Given the description of an element on the screen output the (x, y) to click on. 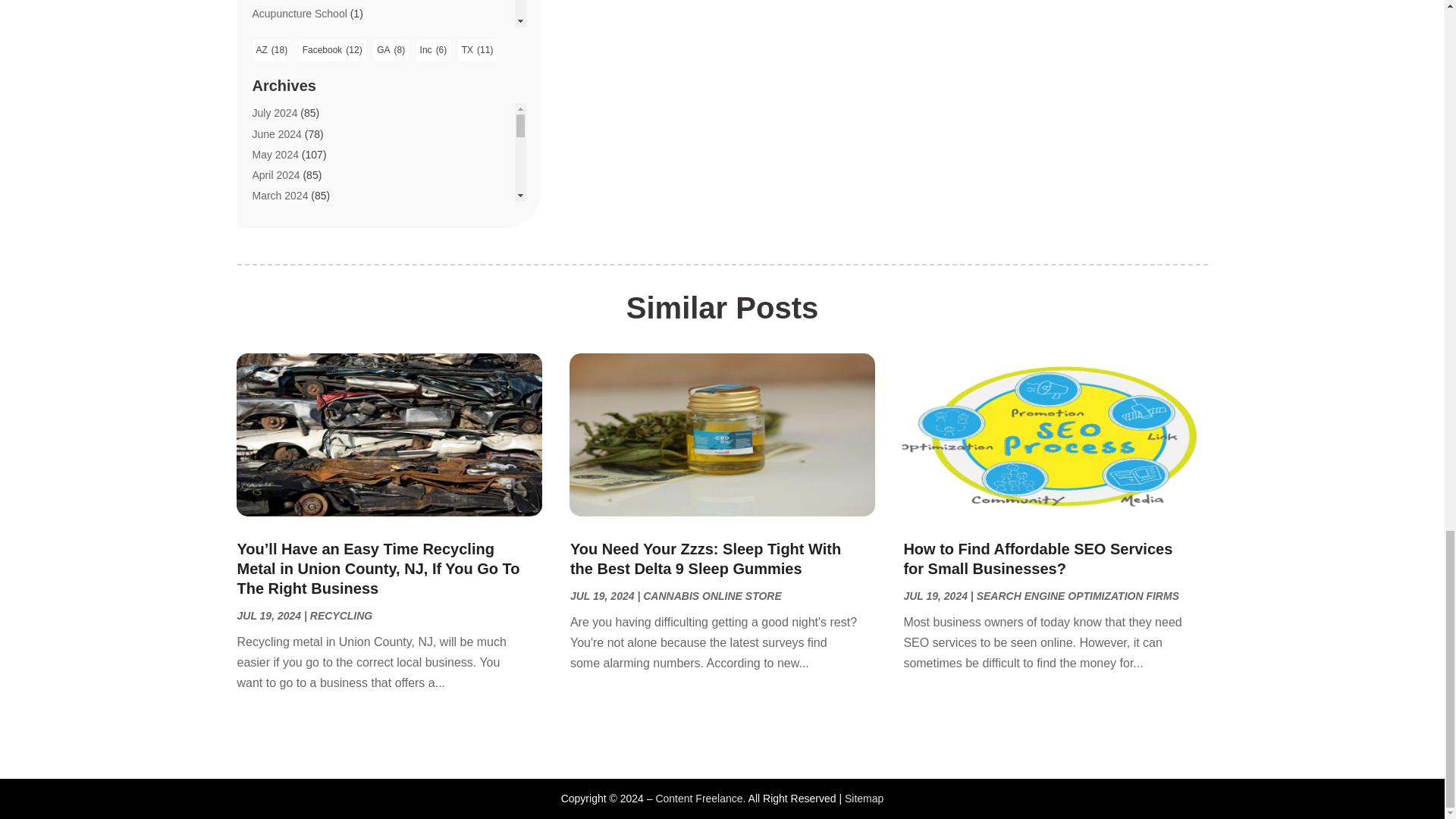
Agriculture And Forestry (308, 96)
Aircraft (268, 177)
Air Quality Control System (313, 157)
Adoption (272, 54)
Airport Shuttle Service (303, 219)
Agricultural Service (297, 74)
Air Conditioning Contractors (317, 137)
Air Conditioning (288, 116)
Acupuncture School (298, 13)
Addiction Treatment (298, 33)
Aircraft GSE (281, 199)
